Given the description of an element on the screen output the (x, y) to click on. 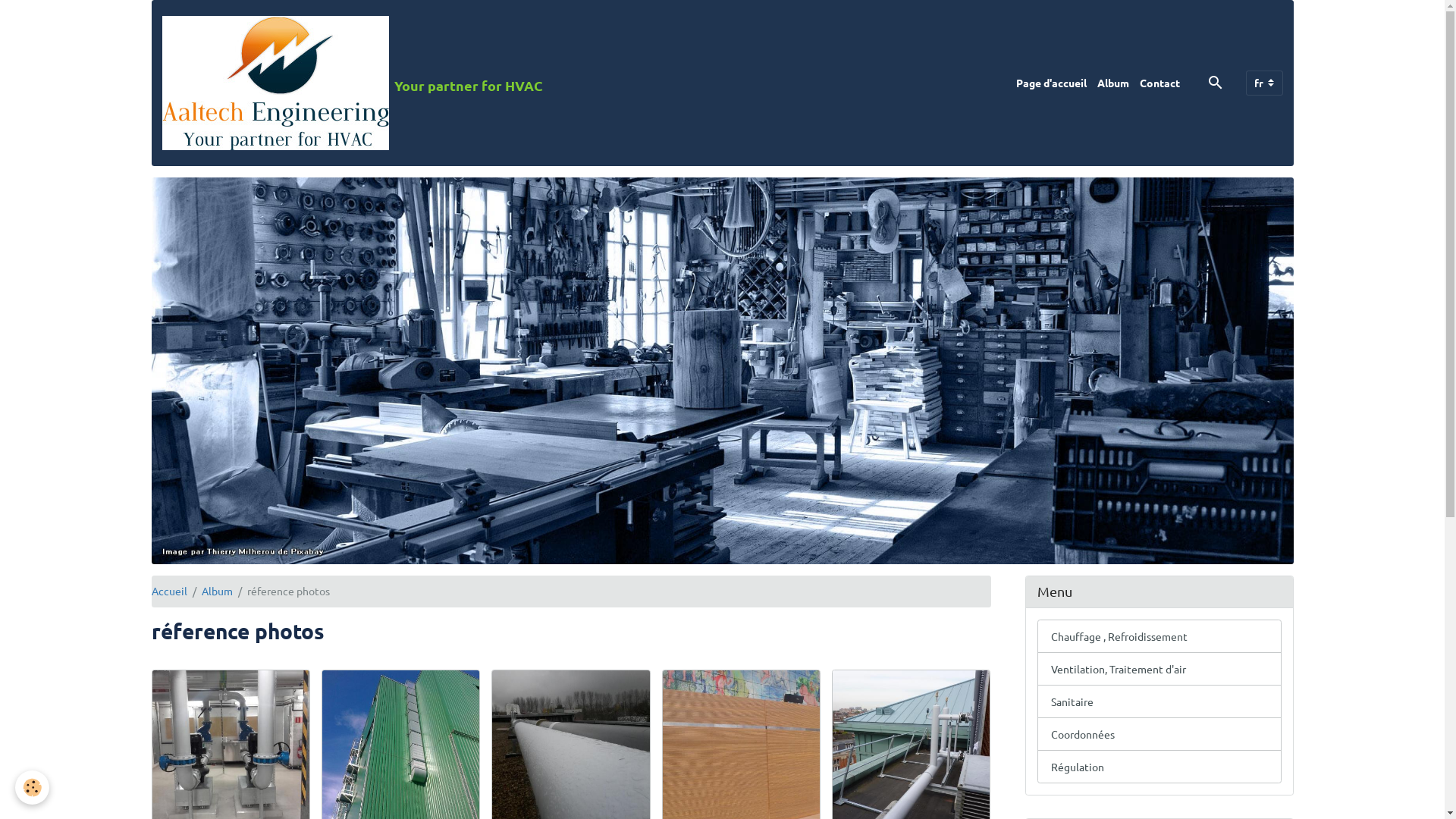
Page d'accueil Element type: text (1050, 82)
Accueil Element type: text (169, 590)
Your partner for HVAC Element type: text (352, 82)
Contact Element type: text (1159, 82)
Album Element type: text (1113, 82)
Album Element type: text (216, 590)
Ventilation, Traitement d'air Element type: text (1159, 668)
Sanitaire Element type: text (1159, 701)
Chauffage , Refroidissement Element type: text (1159, 635)
